Given the description of an element on the screen output the (x, y) to click on. 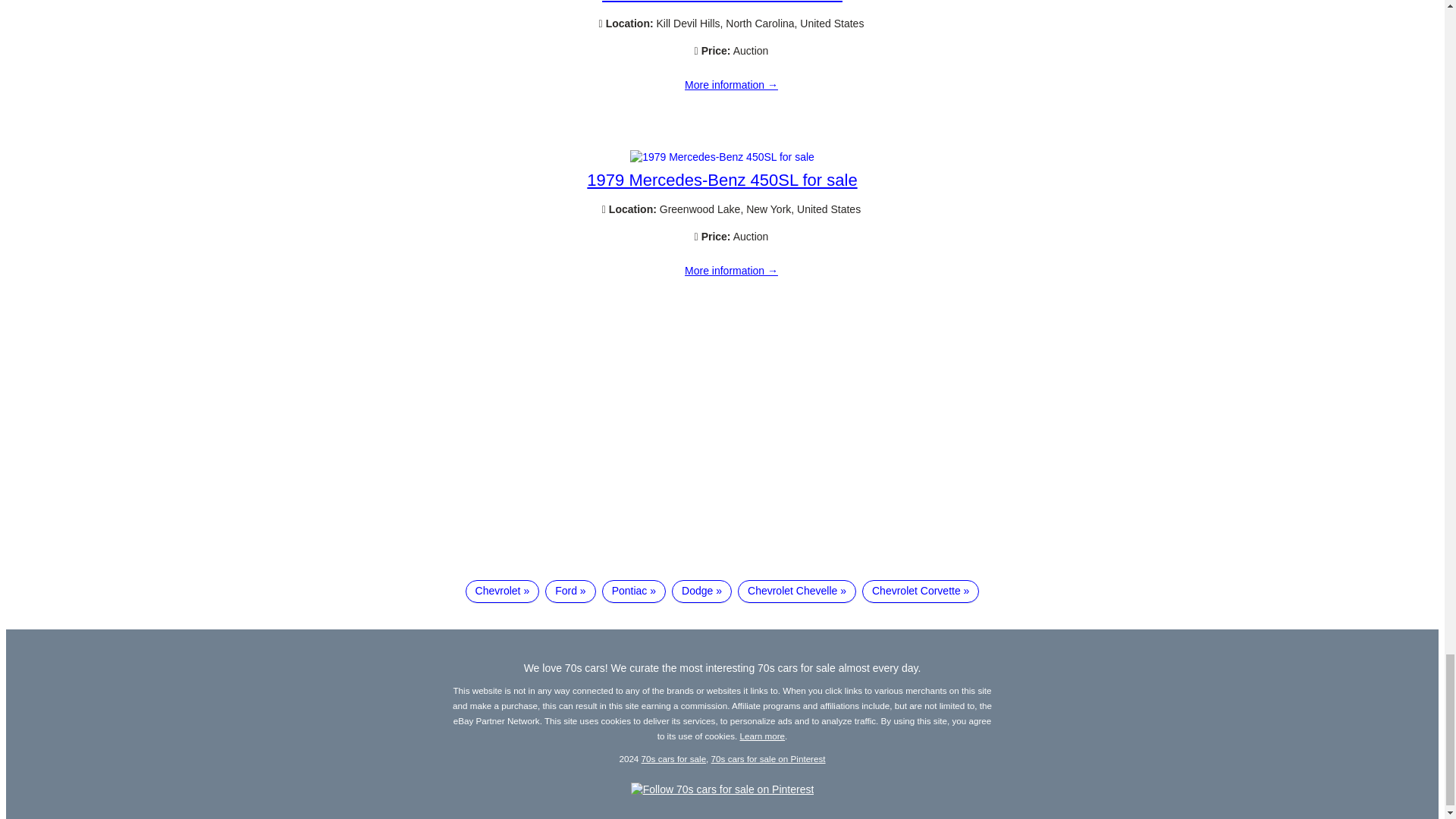
Dodge (701, 590)
1974 Chevrolet G10 van for sale (731, 85)
Learn more (762, 736)
Chevrolet (502, 590)
1979 Mercedes-Benz 450SL for sale (721, 179)
Pontiac (633, 590)
70s cars for sale on Pinterest (768, 758)
1974 Chevrolet G10 van for sale (722, 1)
70s cars for sale (674, 758)
Chevrolet Chevelle (797, 590)
